Given the description of an element on the screen output the (x, y) to click on. 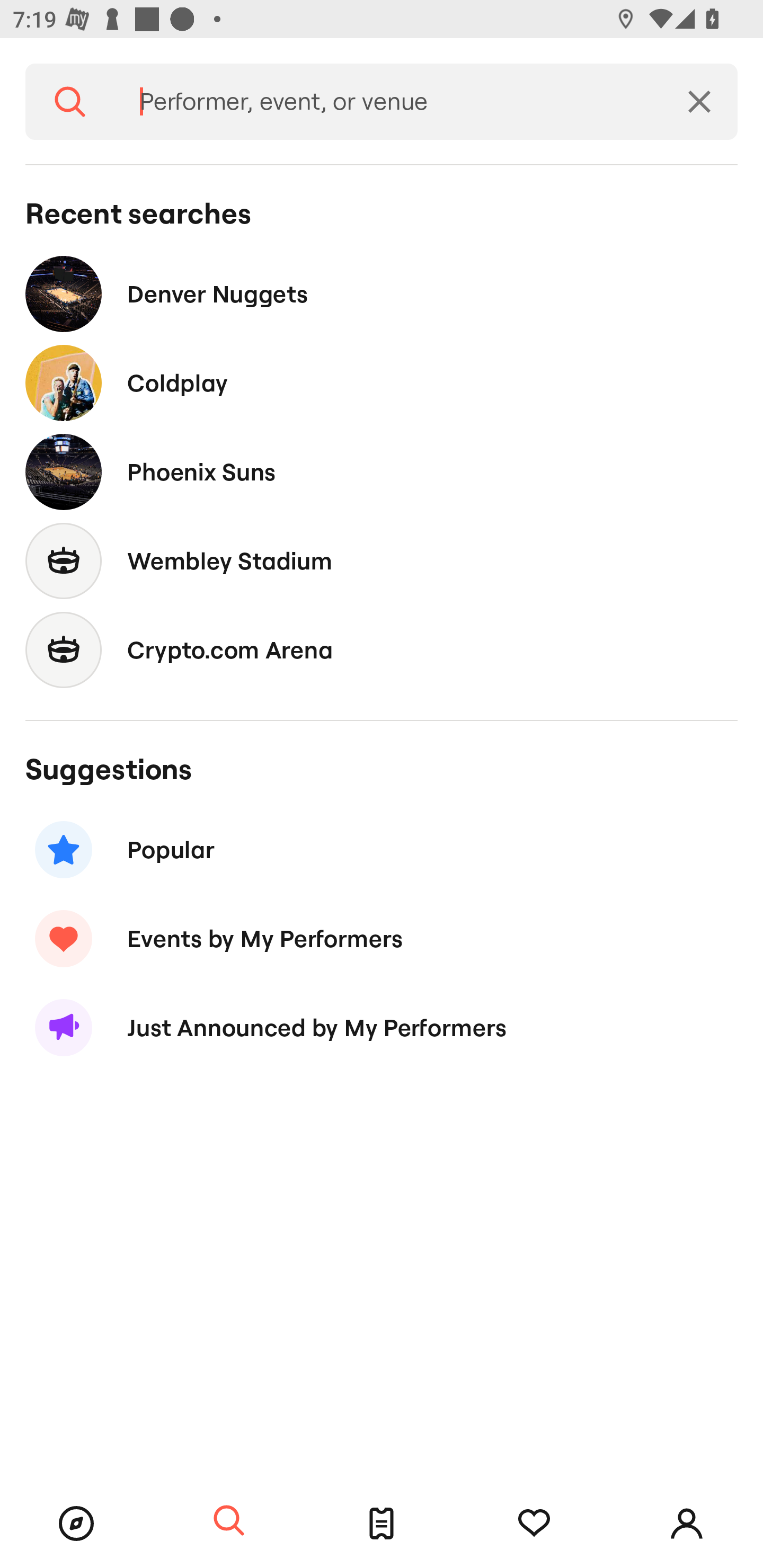
Search (69, 101)
Performer, event, or venue (387, 101)
Clear (699, 101)
Denver Nuggets (381, 293)
Coldplay (381, 383)
Phoenix Suns (381, 471)
Wembley Stadium (381, 560)
Crypto.com Arena (381, 649)
Popular (381, 849)
Events by My Performers (381, 938)
Just Announced by My Performers (381, 1027)
Browse (76, 1523)
Search (228, 1521)
Tickets (381, 1523)
Tracking (533, 1523)
Account (686, 1523)
